Given the description of an element on the screen output the (x, y) to click on. 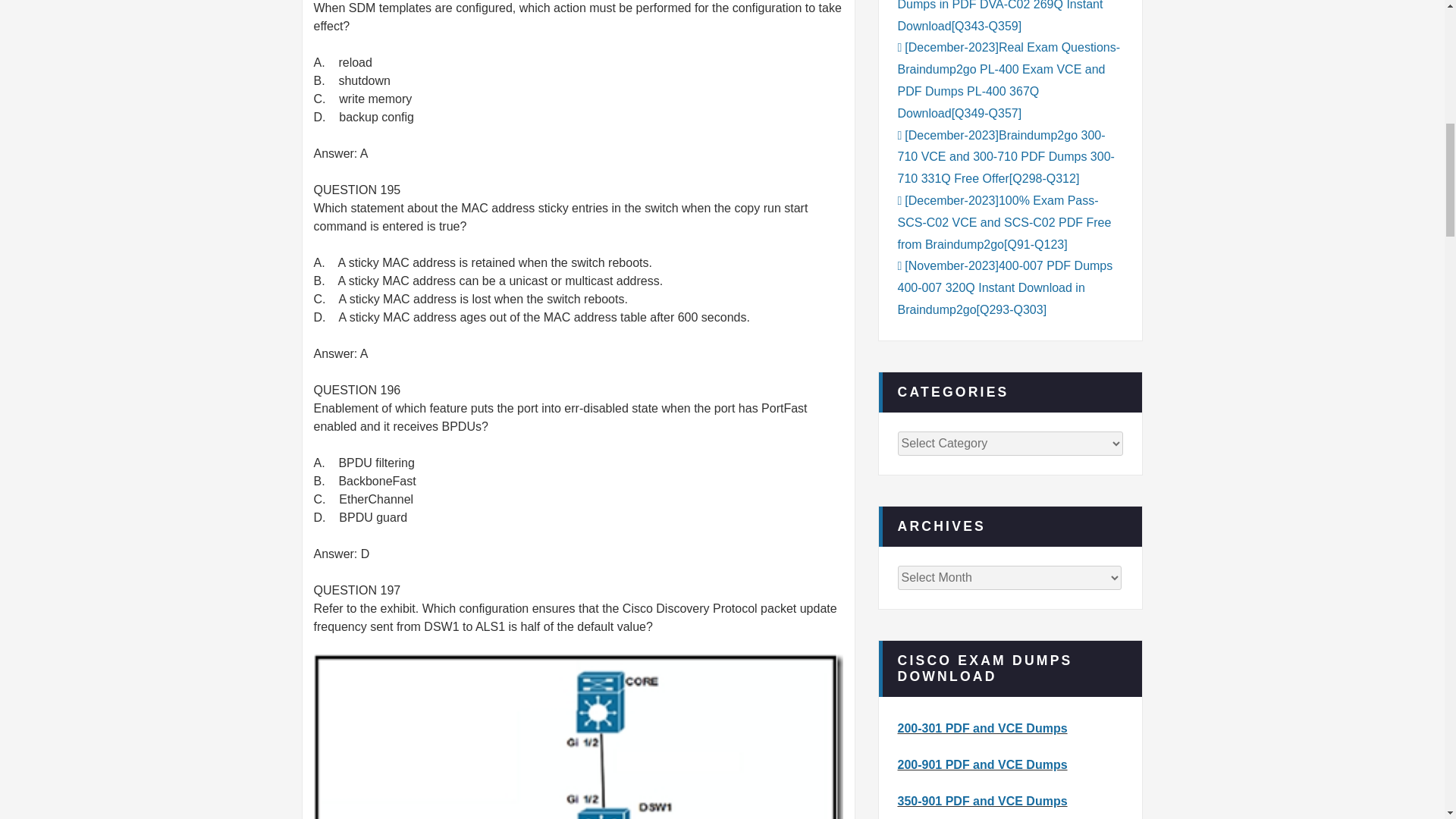
200-301 PDF and VCE Dumps (982, 727)
200-901 PDF and VCE Dumps (982, 764)
350-901 PDF and VCE Dumps (982, 800)
